Given the description of an element on the screen output the (x, y) to click on. 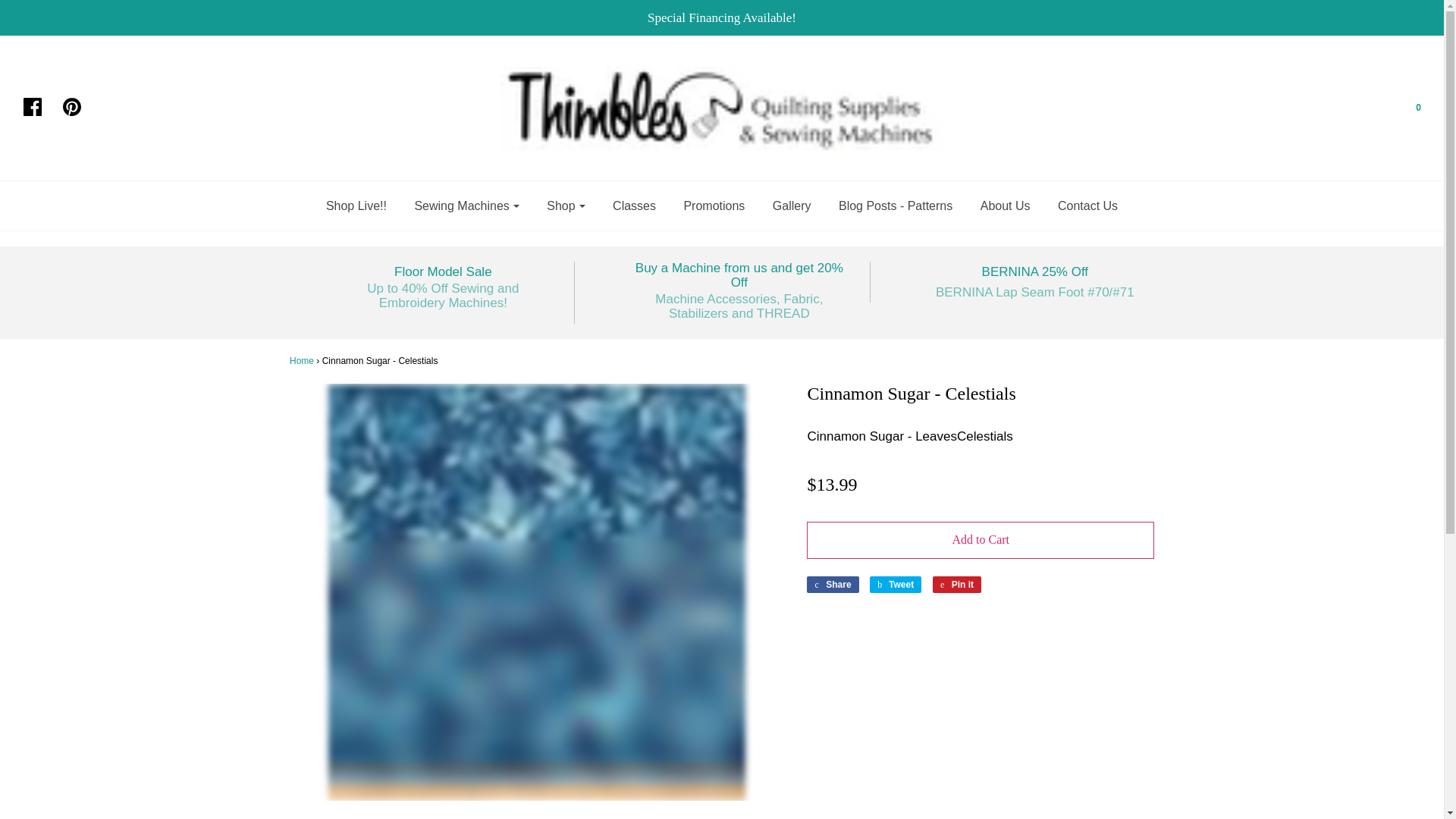
Special Financing Available! (722, 17)
Facebook icon (39, 107)
0 (1408, 107)
Shop Live!! (355, 205)
Sewing Machines (466, 205)
Pinterest icon (79, 107)
Cart (1408, 107)
Back to the frontpage (301, 360)
Facebook icon (32, 106)
Pinterest icon (71, 106)
